Given the description of an element on the screen output the (x, y) to click on. 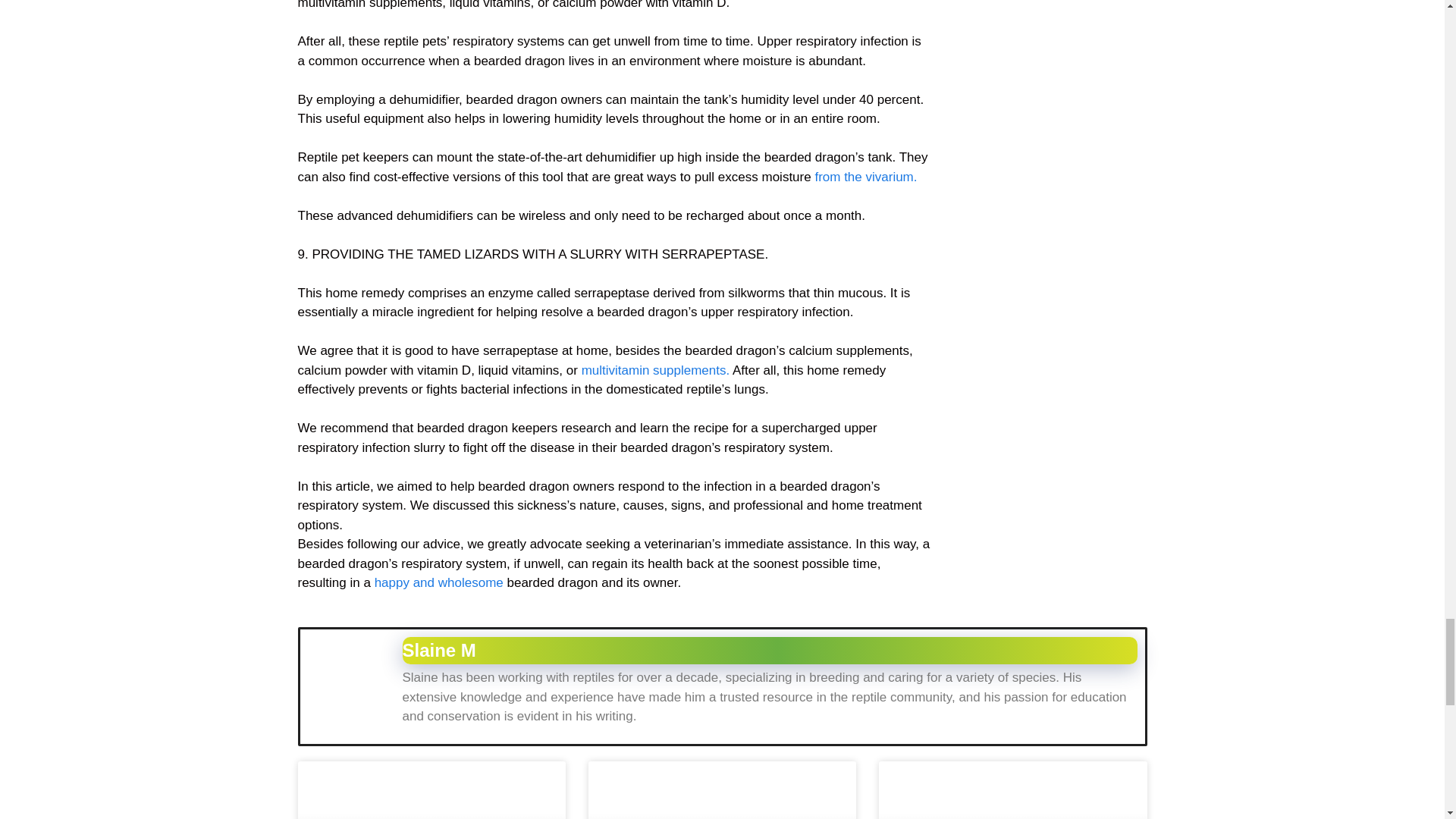
from the vivarium. (865, 176)
happy and wholesome (438, 582)
multivitamin supplements. (655, 370)
